Given the description of an element on the screen output the (x, y) to click on. 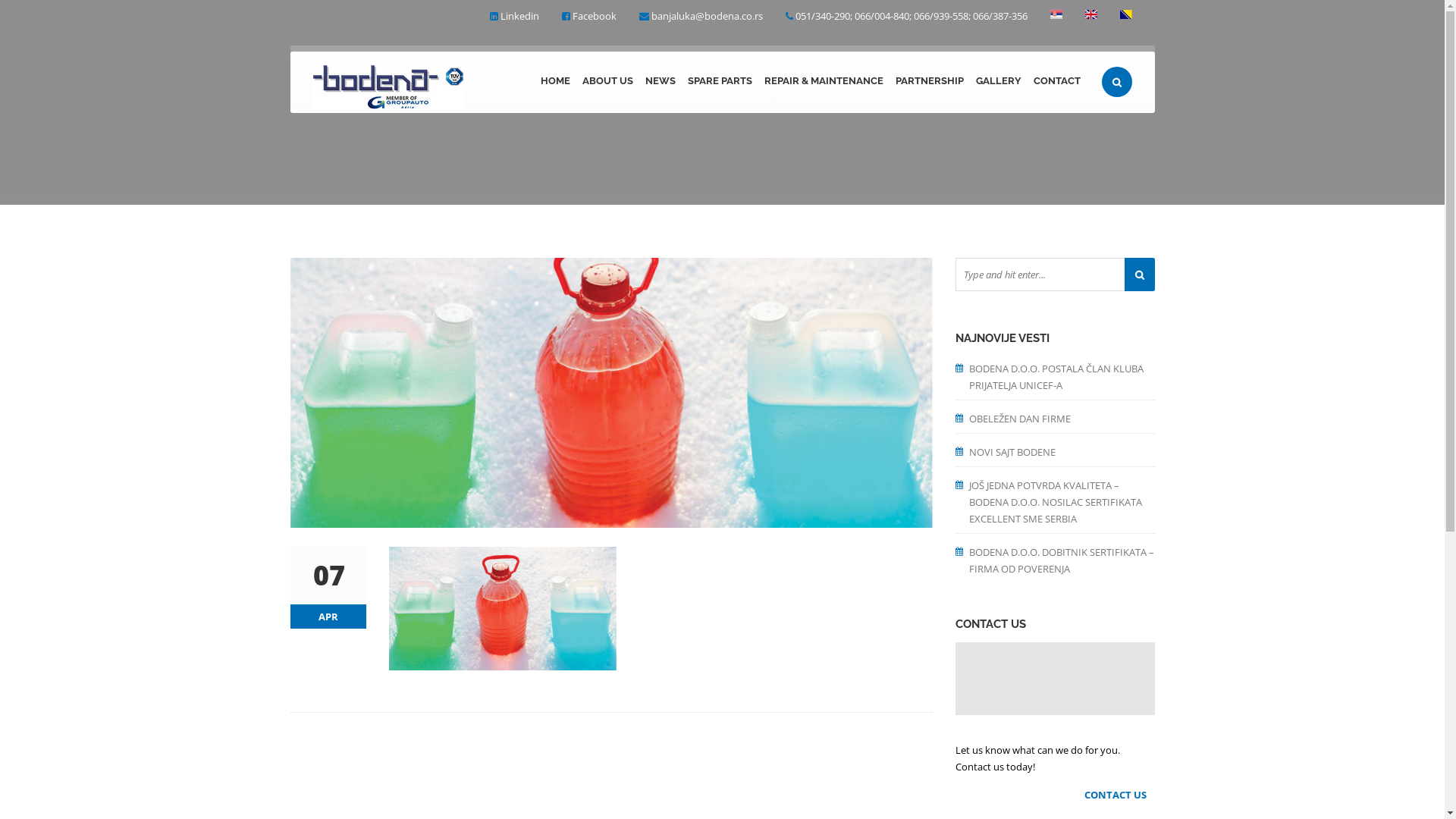
NEWS Element type: text (659, 81)
SPARE PARTS Element type: text (718, 81)
CONTACT US Element type: text (1119, 794)
NOVI SAJT BODENE Element type: text (1061, 449)
REPAIR & MAINTENANCE Element type: text (823, 81)
Linkedin Element type: text (519, 15)
GALLERY Element type: text (997, 81)
PARTNERSHIP Element type: text (928, 81)
ABOUT US Element type: text (607, 81)
HOME Element type: text (554, 81)
CONTACT Element type: text (1055, 81)
Facebook Element type: text (593, 15)
banjaluka@bodena.co.rs Element type: text (706, 15)
